Given the description of an element on the screen output the (x, y) to click on. 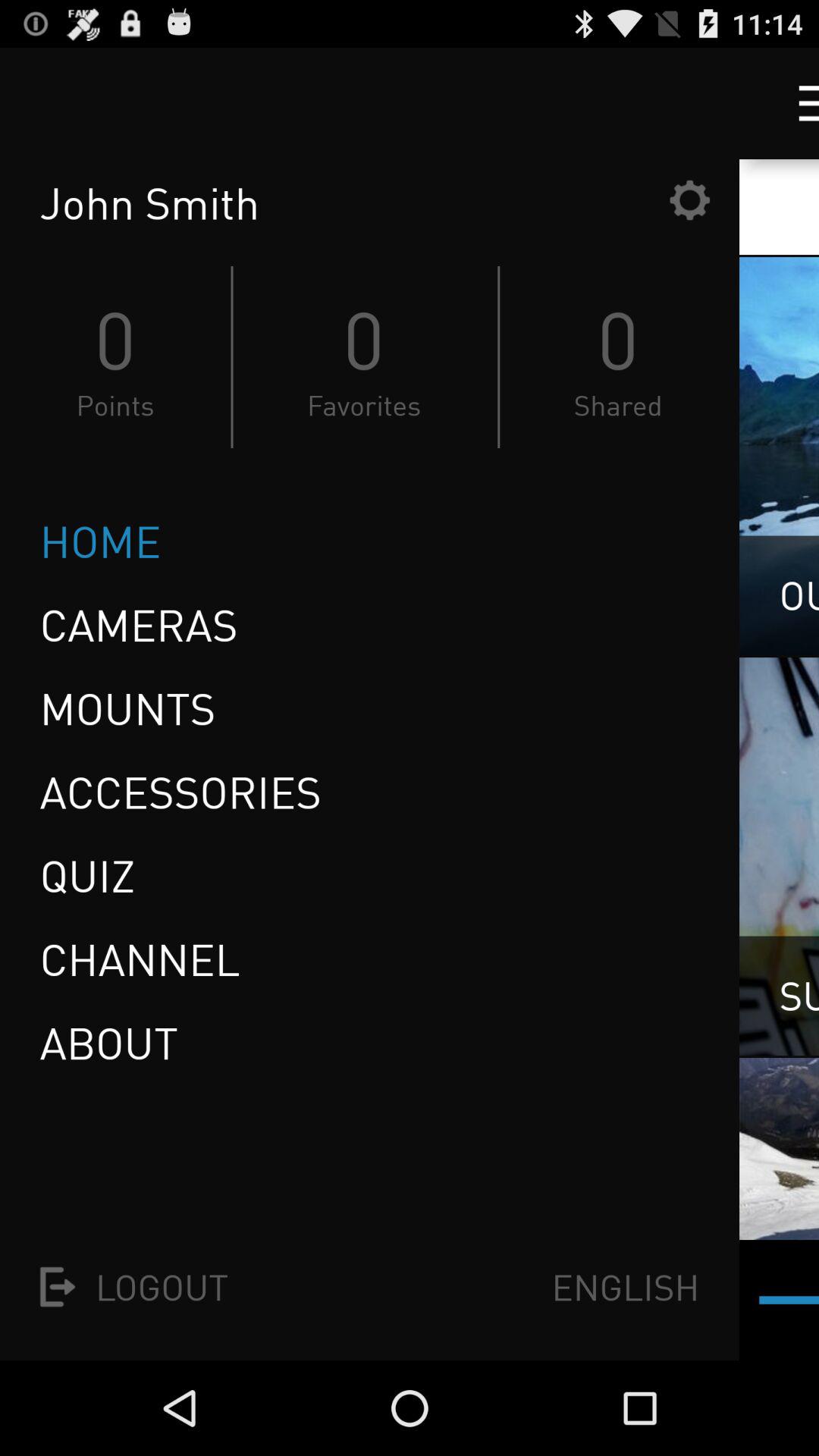
choose icon above the channel item (92, 875)
